Given the description of an element on the screen output the (x, y) to click on. 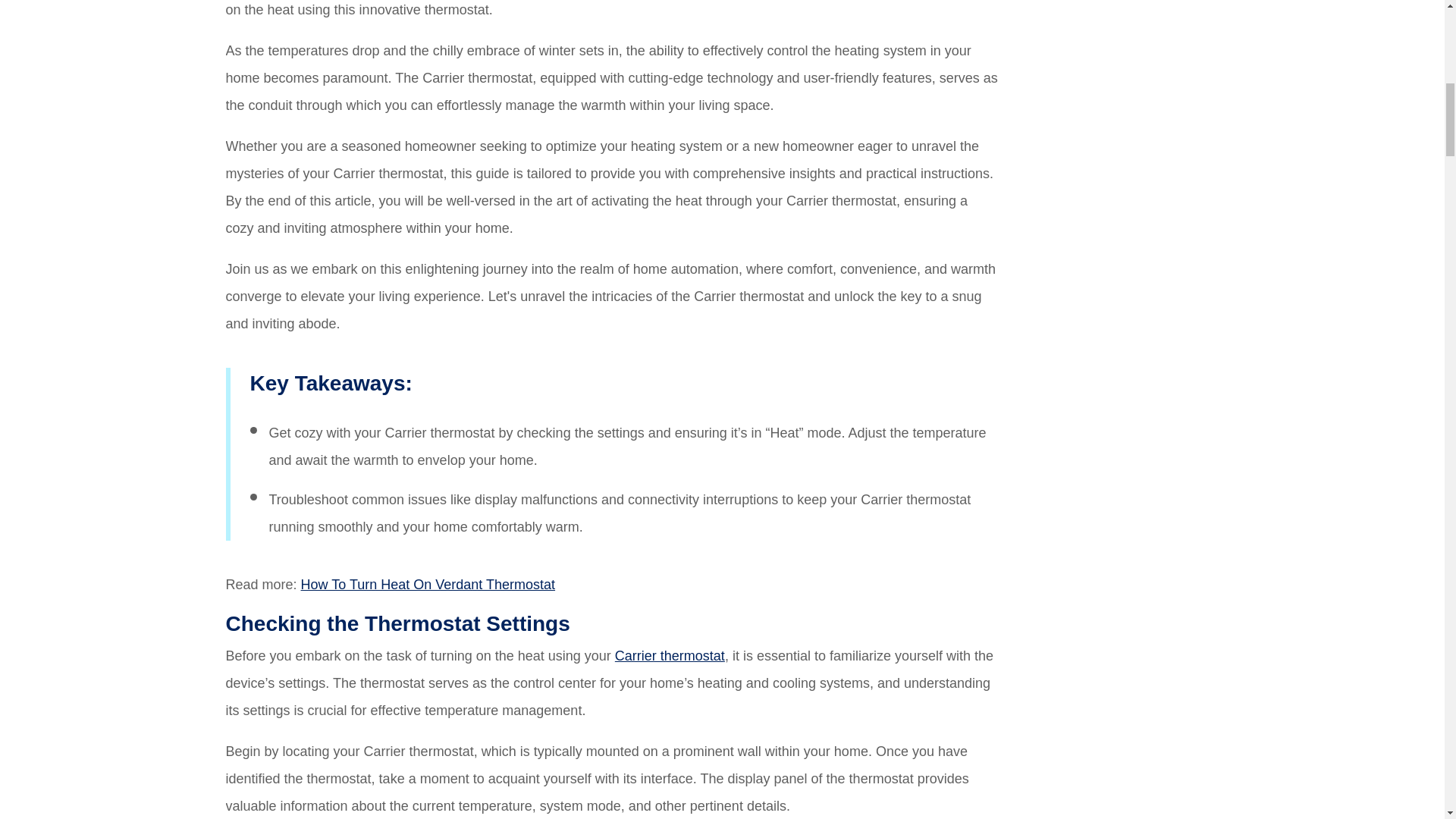
Carrier thermostat (669, 655)
